Given the description of an element on the screen output the (x, y) to click on. 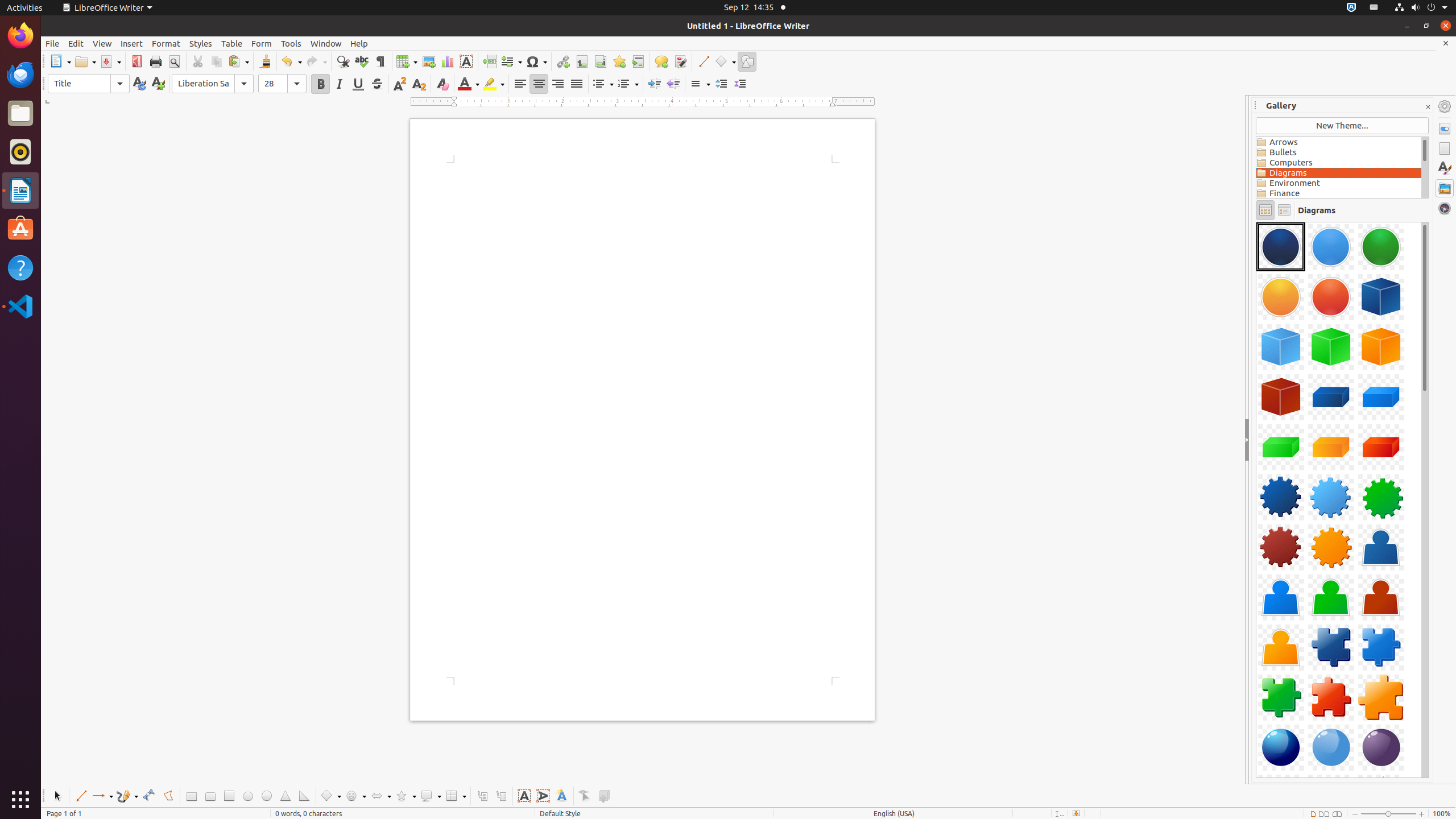
Help Element type: menu (358, 43)
Thunderbird Mail Element type: push-button (20, 74)
LibreOffice Writer Element type: push-button (20, 190)
Properties Element type: radio-button (1444, 128)
Edit Element type: menu (75, 43)
